Given the description of an element on the screen output the (x, y) to click on. 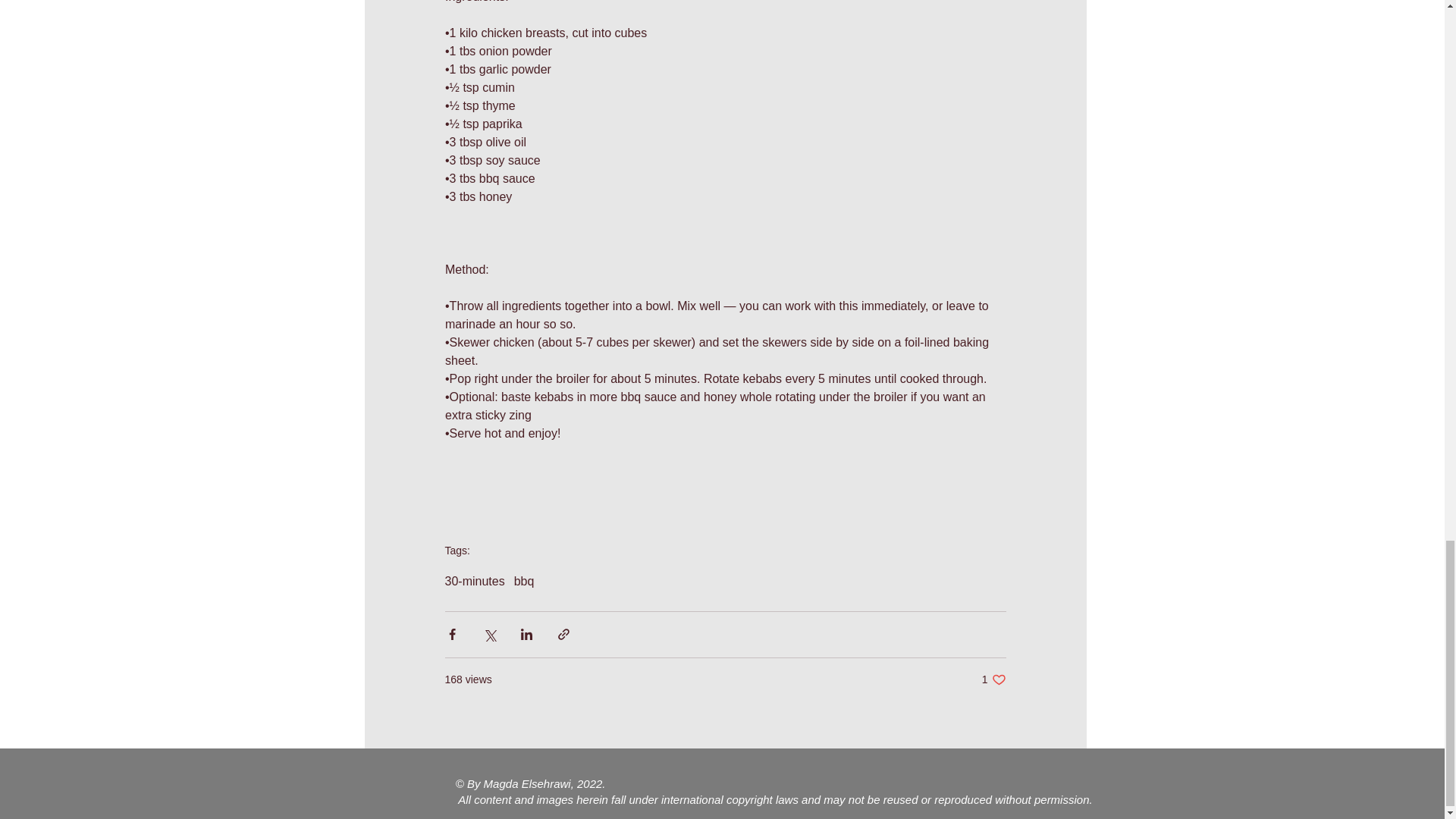
bbq (993, 679)
30-minutes (523, 581)
